Given the description of an element on the screen output the (x, y) to click on. 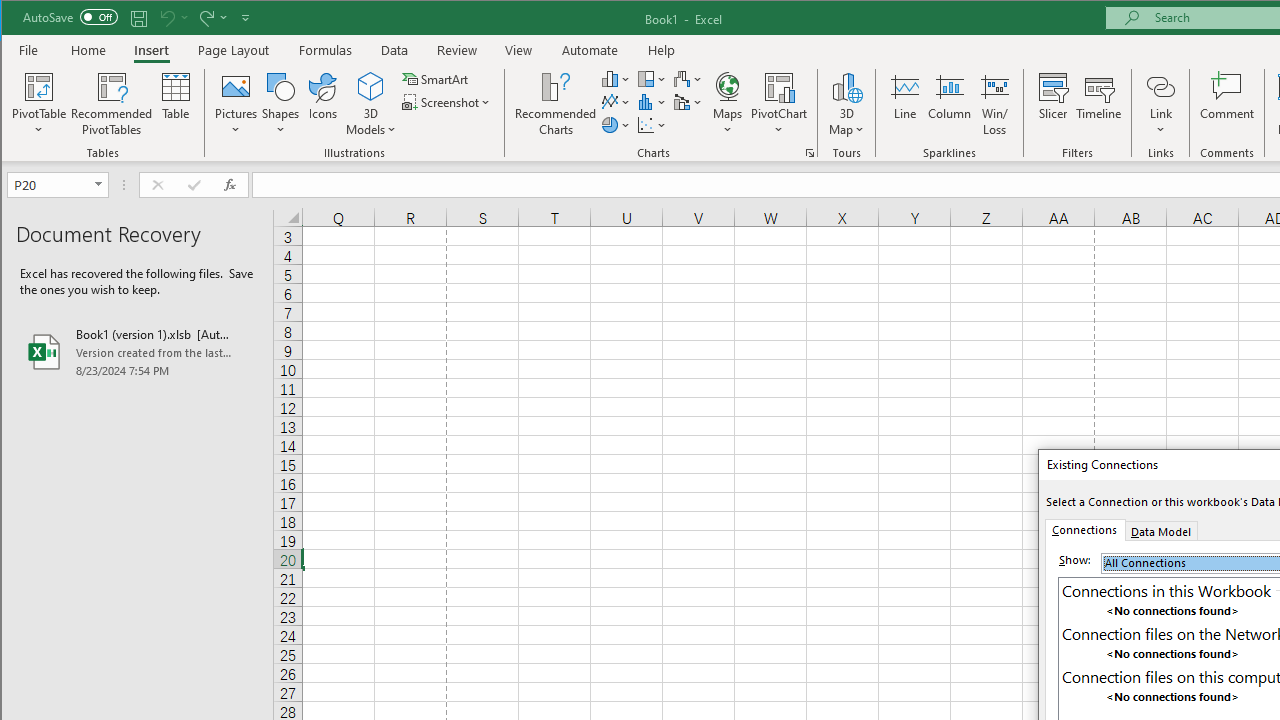
Pictures (235, 104)
Formulas (326, 50)
Comment (1227, 104)
Insert Pie or Doughnut Chart (616, 124)
Save (139, 17)
More Options (1160, 123)
Data (395, 50)
Maps (727, 104)
Recommended Charts (809, 152)
Insert Scatter (X, Y) or Bubble Chart (652, 124)
PivotTable (39, 86)
